Given the description of an element on the screen output the (x, y) to click on. 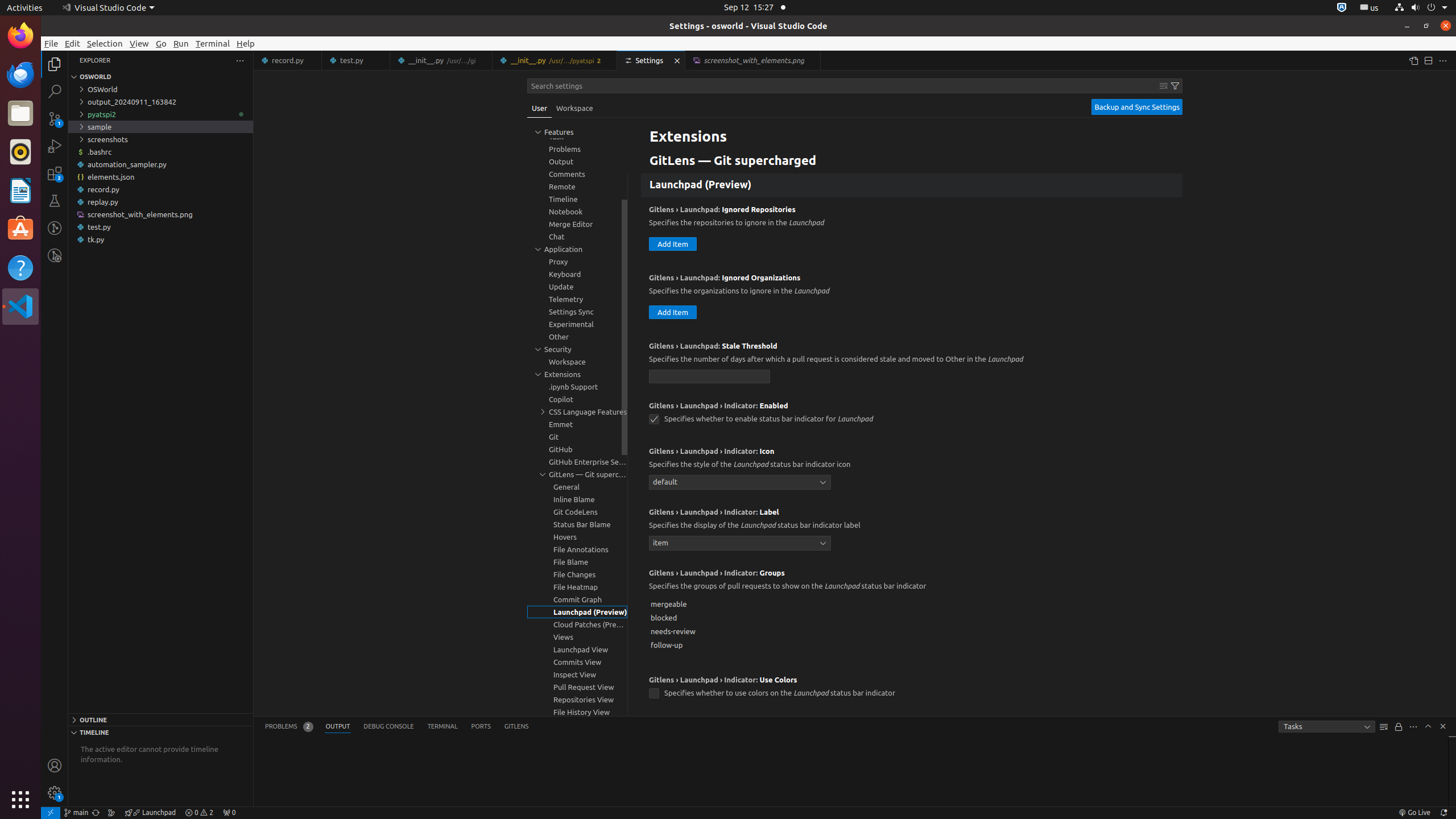
Timeline, group Element type: tree-item (577, 198)
gitlens.launchpad.staleThreshold Element type: spin-button (709, 375)
Filter Settings Element type: push-button (1174, 85)
item Element type: menu-item (739, 542)
Application, group Element type: tree-item (577, 248)
